Given the description of an element on the screen output the (x, y) to click on. 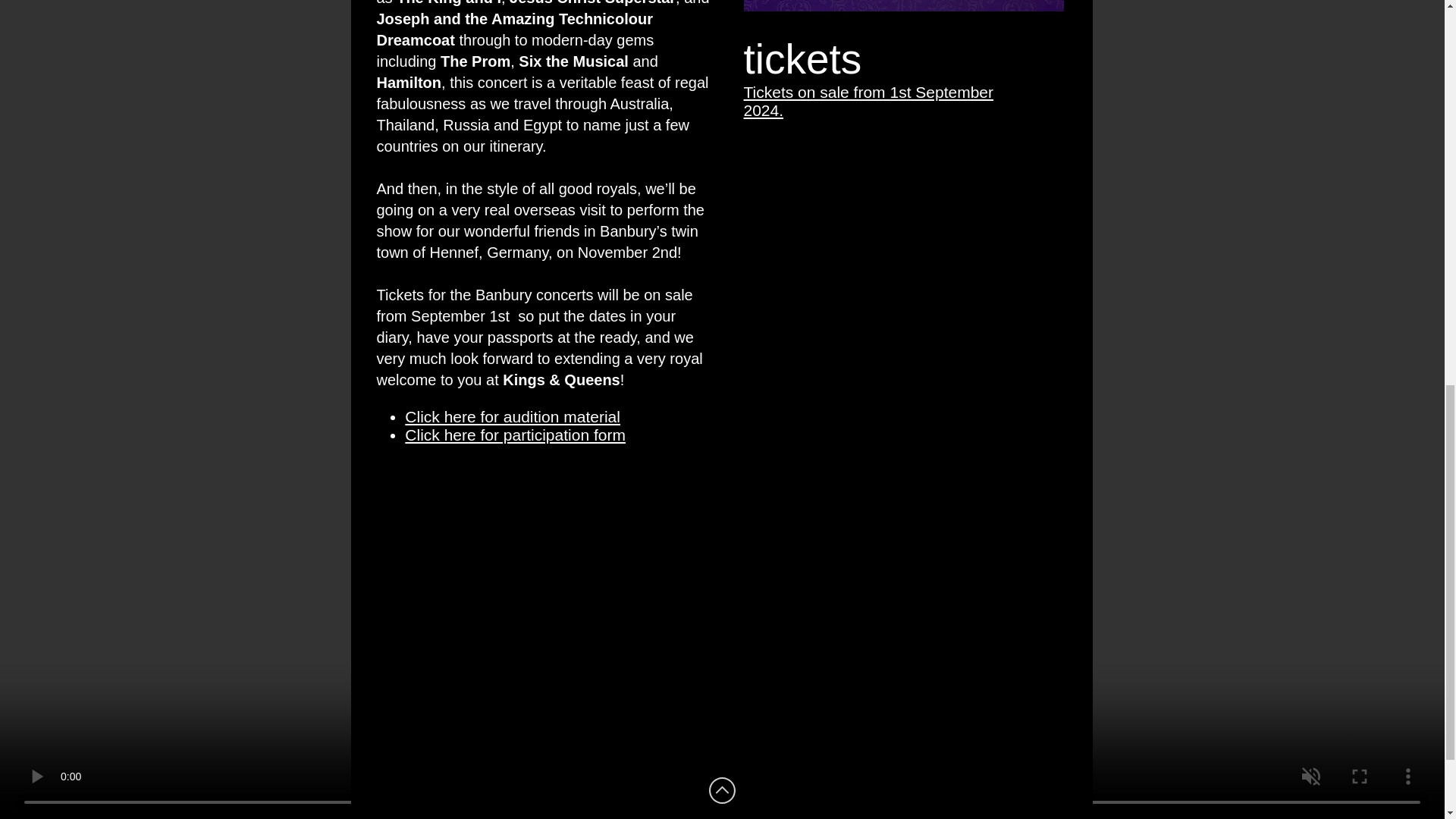
Tickets on sale from 1st September 2024. (867, 100)
Click here for audition material (512, 416)
Click here for participation form (515, 434)
